Given the description of an element on the screen output the (x, y) to click on. 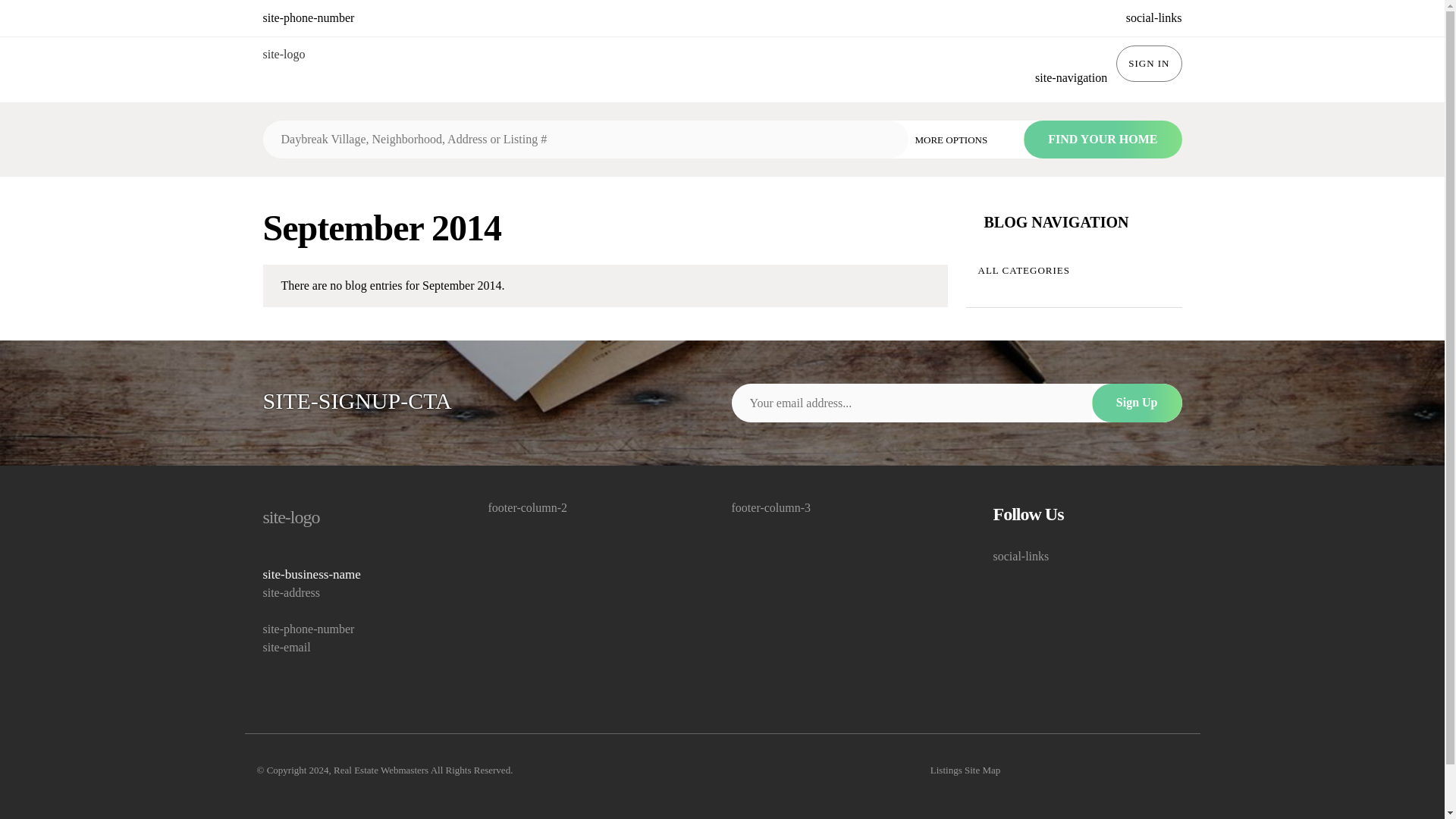
FIND YOUR HOME (1101, 139)
site-logo (356, 517)
Listings Site Map (964, 770)
site-logo (283, 54)
MORE OPTIONS (962, 138)
Sign Up (1137, 402)
ALL CATEGORIES (1074, 270)
SIGN IN (1148, 63)
Real Estate Webmasters (380, 769)
site-email (356, 647)
